Given the description of an element on the screen output the (x, y) to click on. 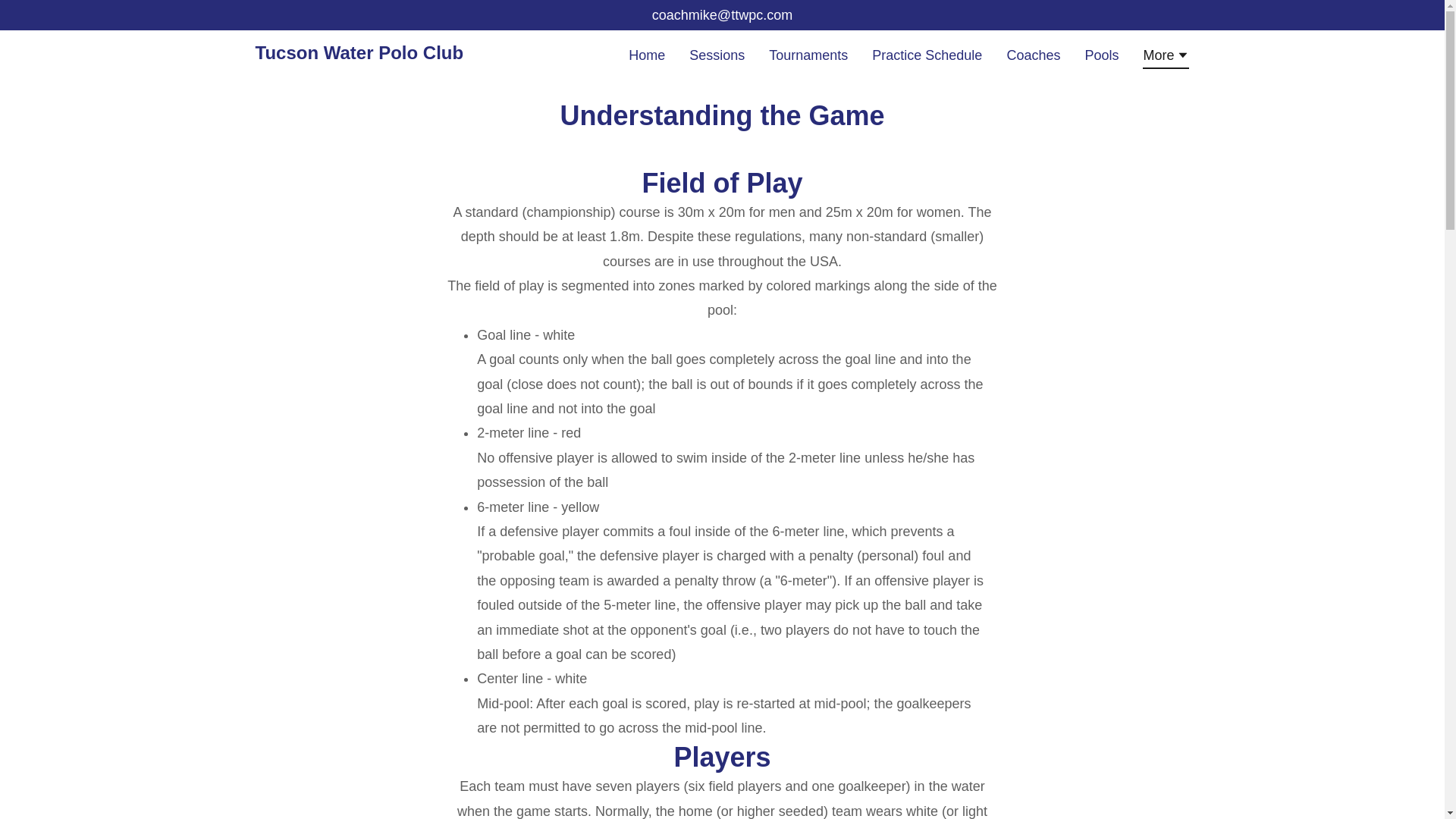
Pools (1101, 54)
Sessions (716, 54)
Practice Schedule (927, 54)
Tournaments (807, 54)
Tucson Water Polo Club (358, 54)
Coaches (1032, 54)
More (1165, 56)
Home (646, 54)
Tucson Water Polo Club (358, 54)
